Given the description of an element on the screen output the (x, y) to click on. 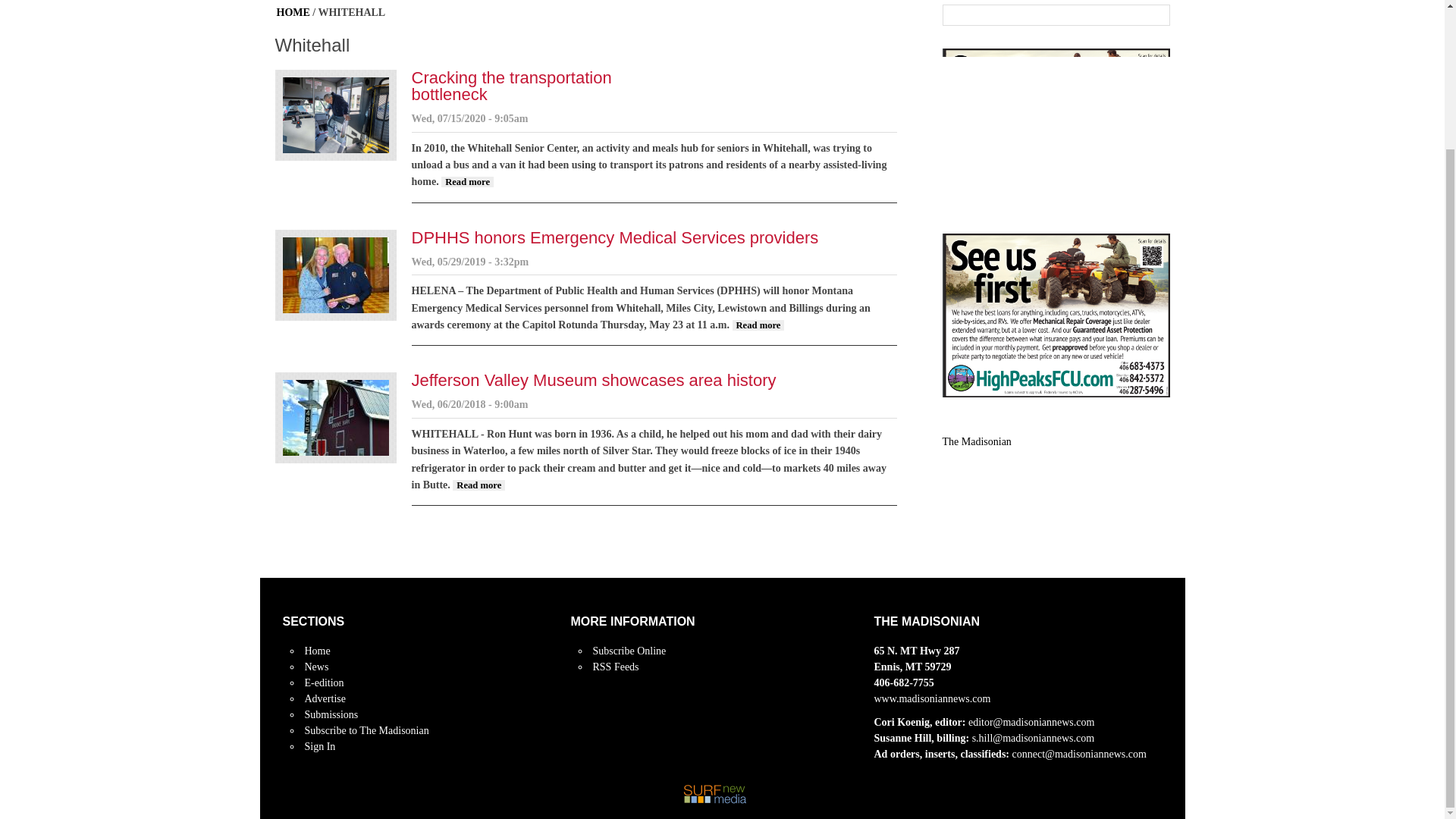
Jefferson Valley Museum showcases area history (593, 380)
News (316, 666)
Cracking the transportation bottleneck (467, 181)
Search (1155, 15)
Enter the terms you wish to search for. (1043, 15)
Search (1155, 15)
DPHHS honors Emergency  Medical Services providers (758, 325)
HOME (292, 12)
Jefferson Valley Museum  showcases area history (478, 484)
Home (467, 181)
The Madisonian (317, 650)
DPHHS honors Emergency Medical Services providers (976, 441)
